Given the description of an element on the screen output the (x, y) to click on. 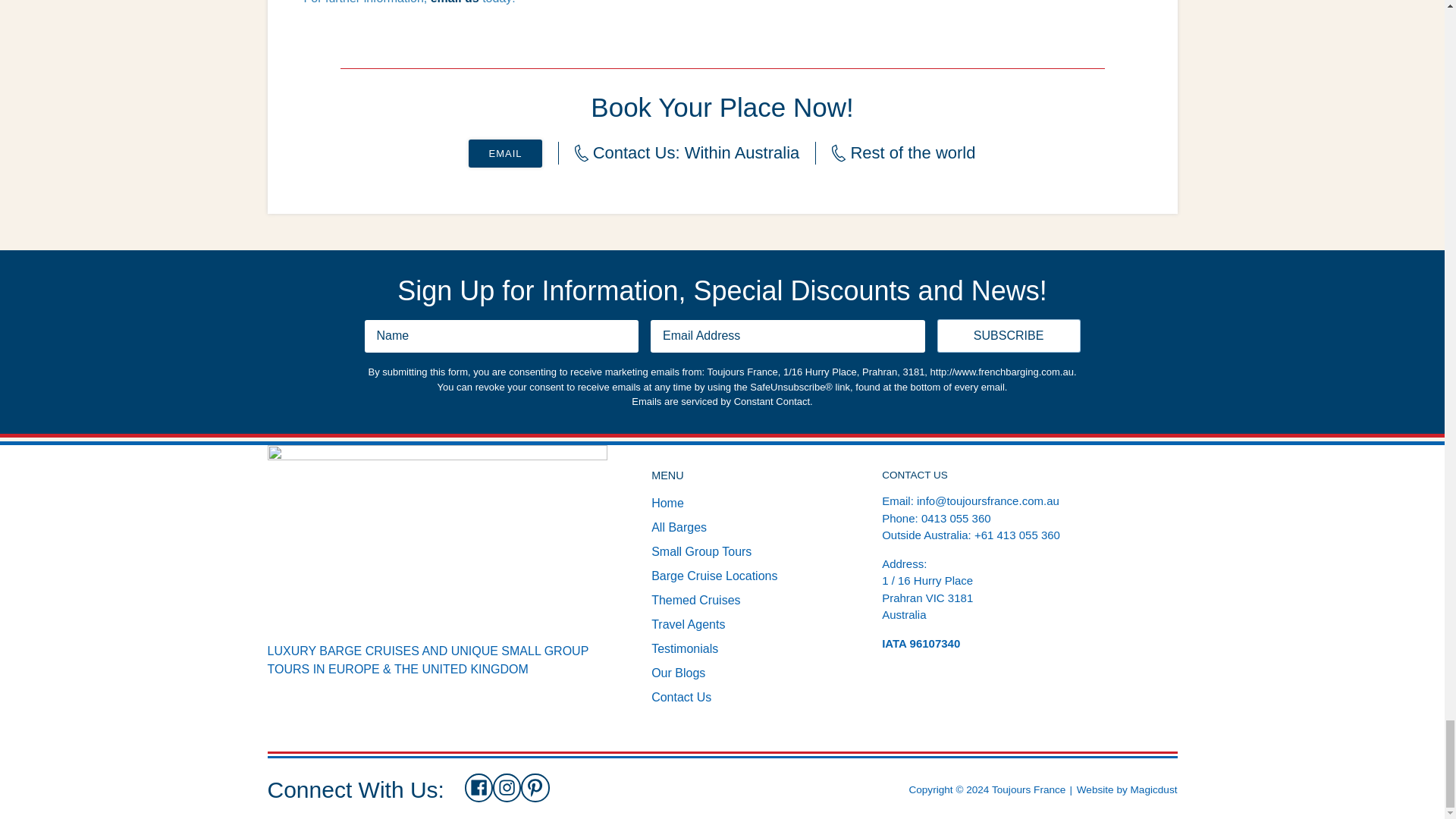
Our Blogs (677, 672)
Magicdust (1154, 789)
Subscribe (1008, 335)
0413 055 360 (956, 517)
Home (667, 502)
EMAIL (504, 153)
Travel Agents (687, 624)
Barge Cruise Locations (713, 575)
All Barges (678, 526)
email us (454, 2)
